Given the description of an element on the screen output the (x, y) to click on. 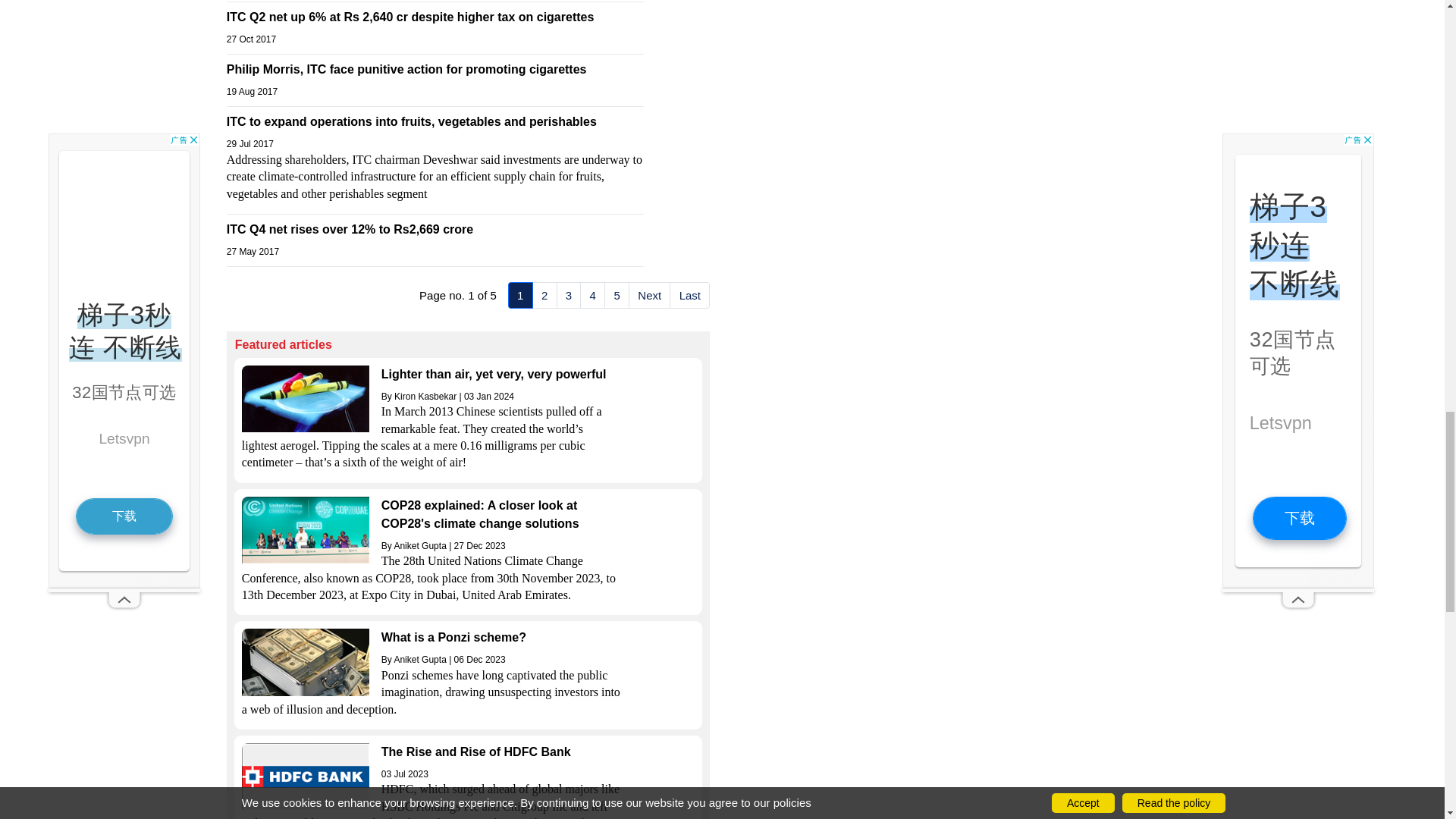
Last page (689, 294)
Next page (648, 294)
